Given the description of an element on the screen output the (x, y) to click on. 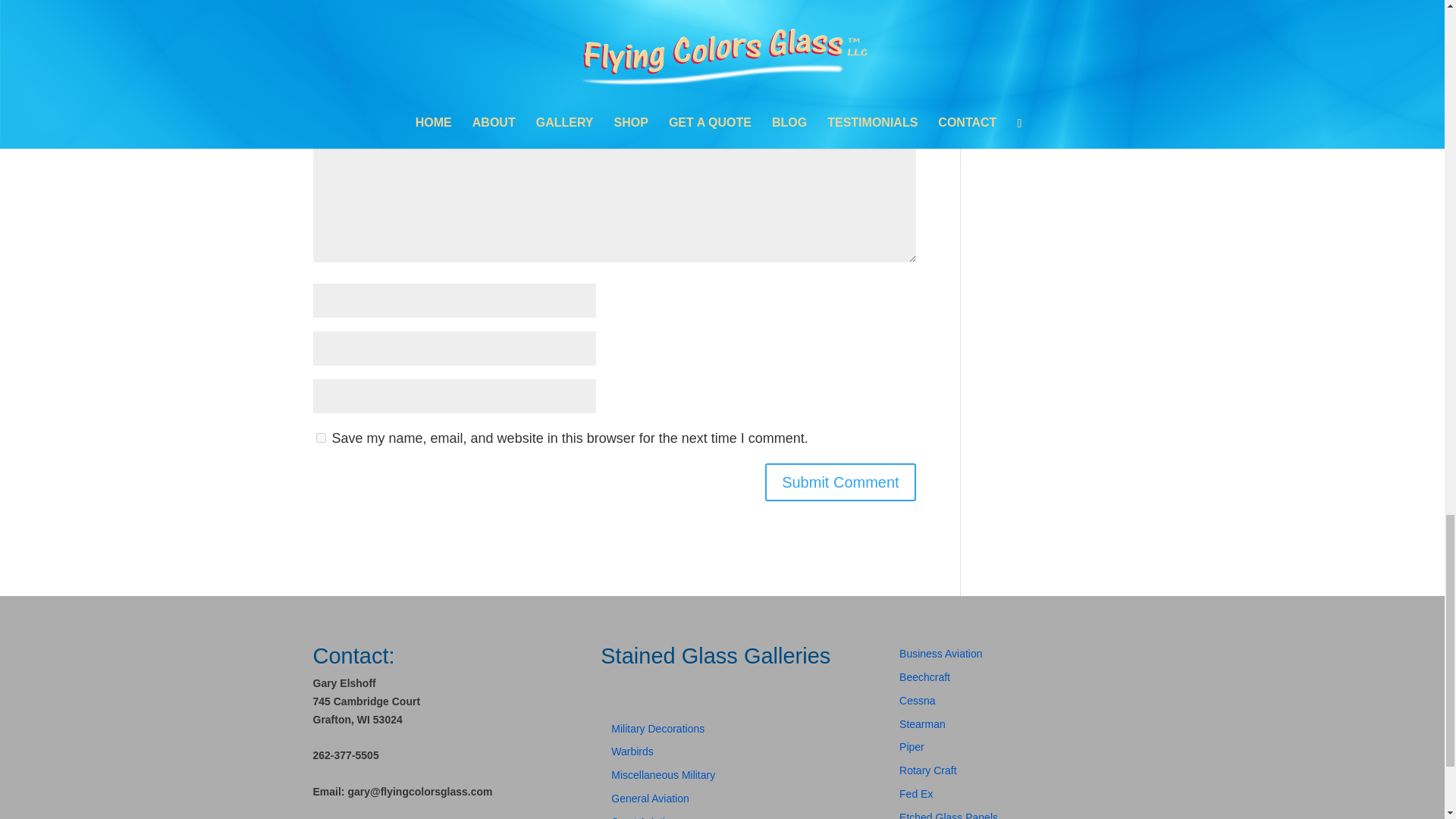
yes (319, 438)
Submit Comment (840, 482)
Submit Comment (840, 482)
